Given the description of an element on the screen output the (x, y) to click on. 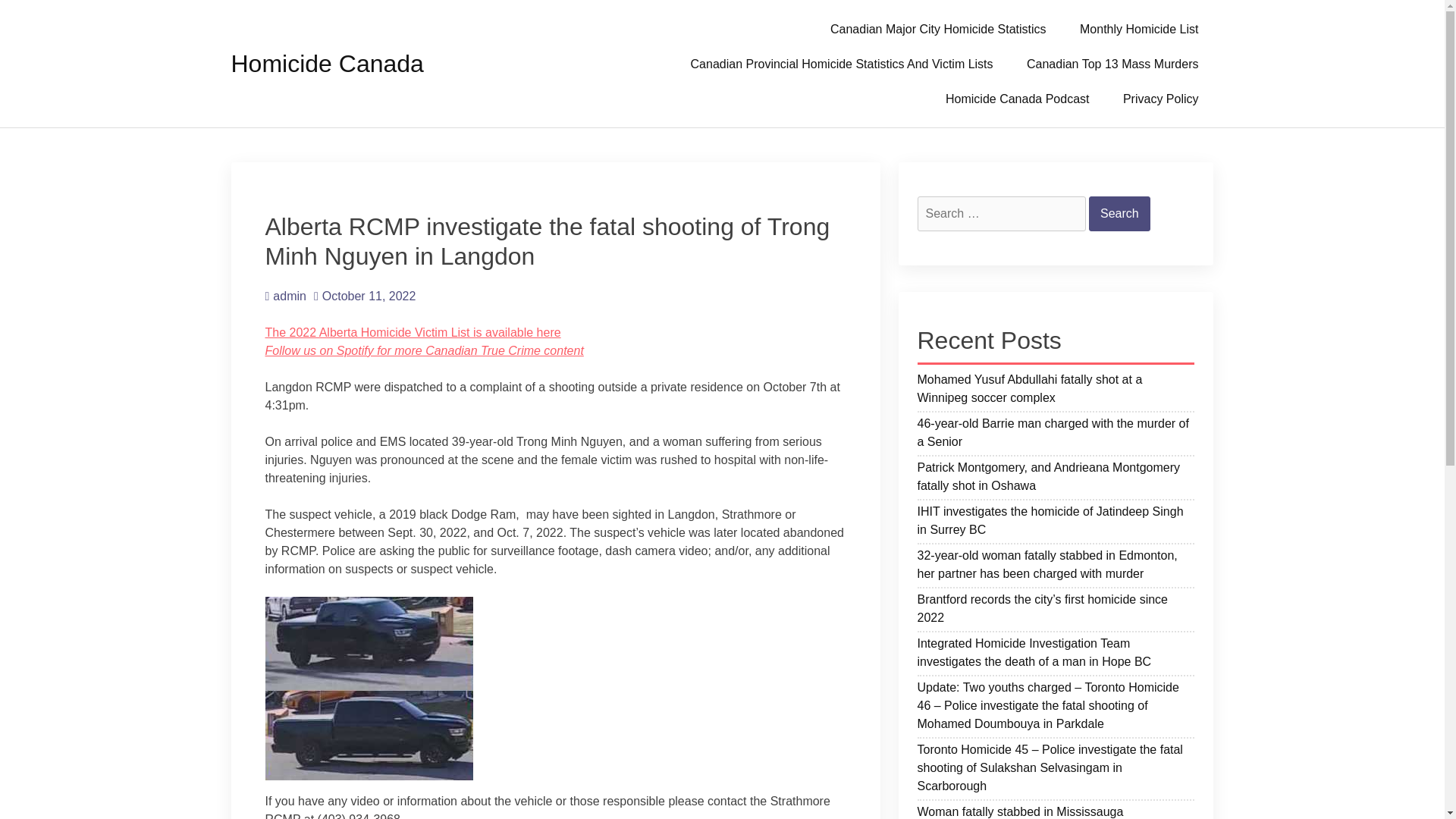
Canadian Top 13 Mass Murders (1112, 63)
Search (1119, 213)
Homicide Canada (326, 62)
Canadian Major City Homicide Statistics (938, 28)
October 11, 2022 (364, 295)
admin (284, 295)
Canadian Provincial Homicide Statistics And Victim Lists (842, 63)
Privacy Policy (1161, 98)
Homicide Canada Podcast (1016, 98)
Monthly Homicide List (1139, 28)
46-year-old Barrie man charged with the murder of a Senior (1056, 434)
